Given the description of an element on the screen output the (x, y) to click on. 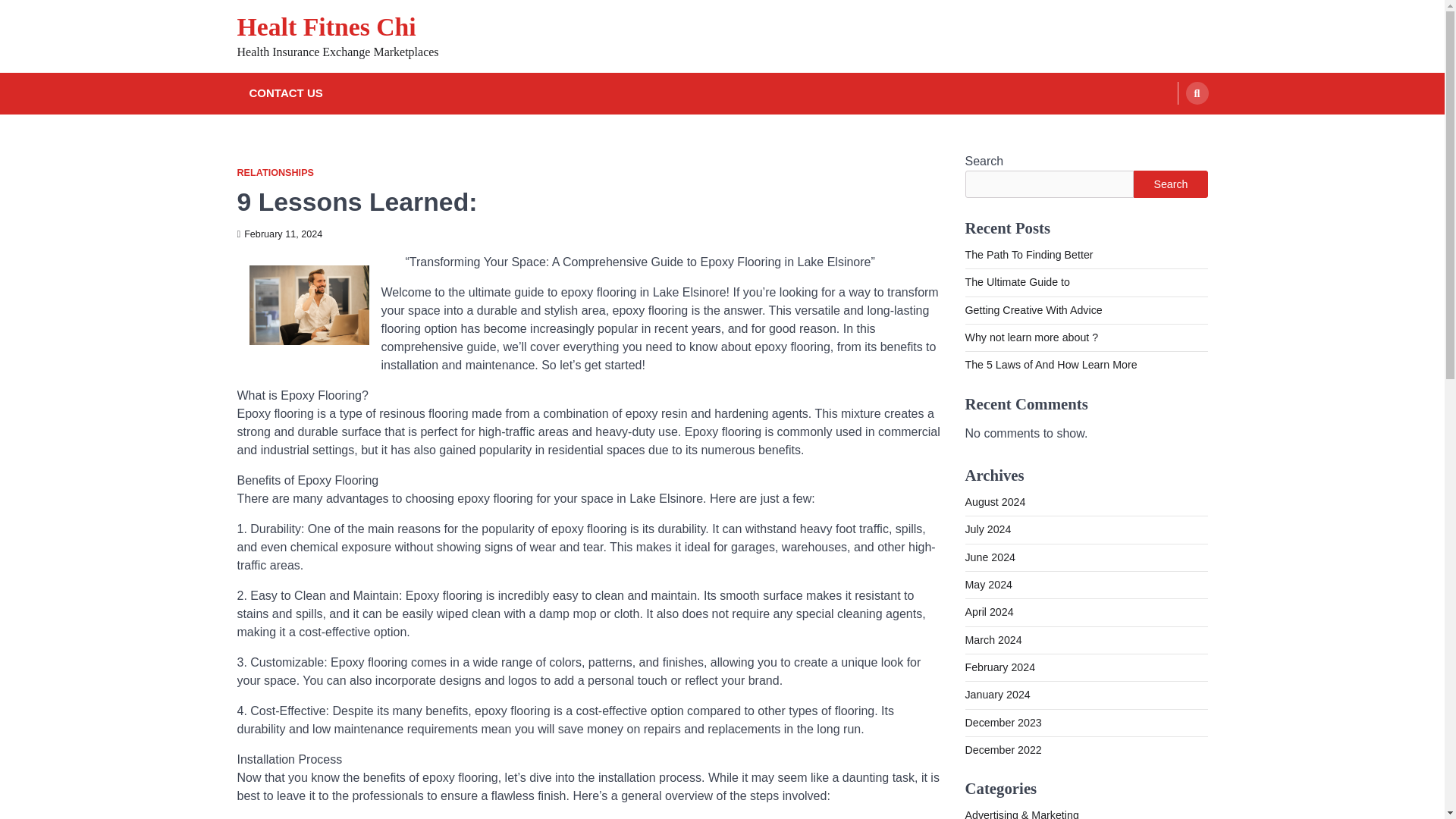
February 2024 (999, 666)
Search (1168, 128)
February 11, 2024 (278, 234)
Healt Fitnes Chi (324, 26)
December 2022 (1002, 749)
December 2023 (1002, 722)
June 2024 (988, 557)
The 5 Laws of And How Learn More (1050, 364)
May 2024 (987, 584)
Search (1170, 184)
The Ultimate Guide to (1015, 282)
Search (1197, 92)
August 2024 (994, 501)
RELATIONSHIPS (274, 173)
CONTACT US (286, 93)
